Given the description of an element on the screen output the (x, y) to click on. 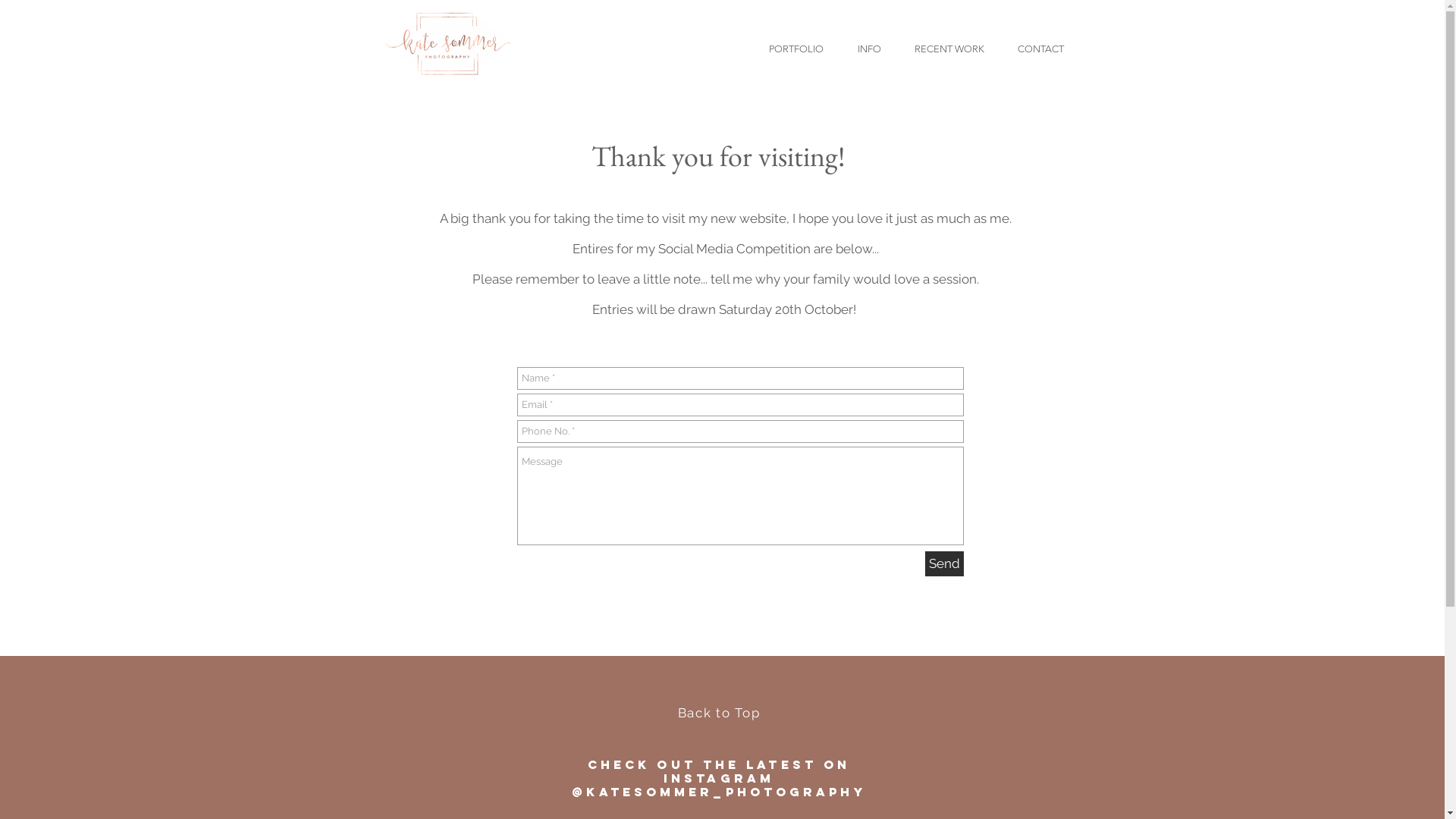
PORTFOLIO Element type: text (796, 41)
Send Element type: text (944, 563)
INFO Element type: text (868, 41)
RECENT WORK Element type: text (949, 41)
CONTACT Element type: text (1040, 41)
Back to Top Element type: text (718, 712)
